Given the description of an element on the screen output the (x, y) to click on. 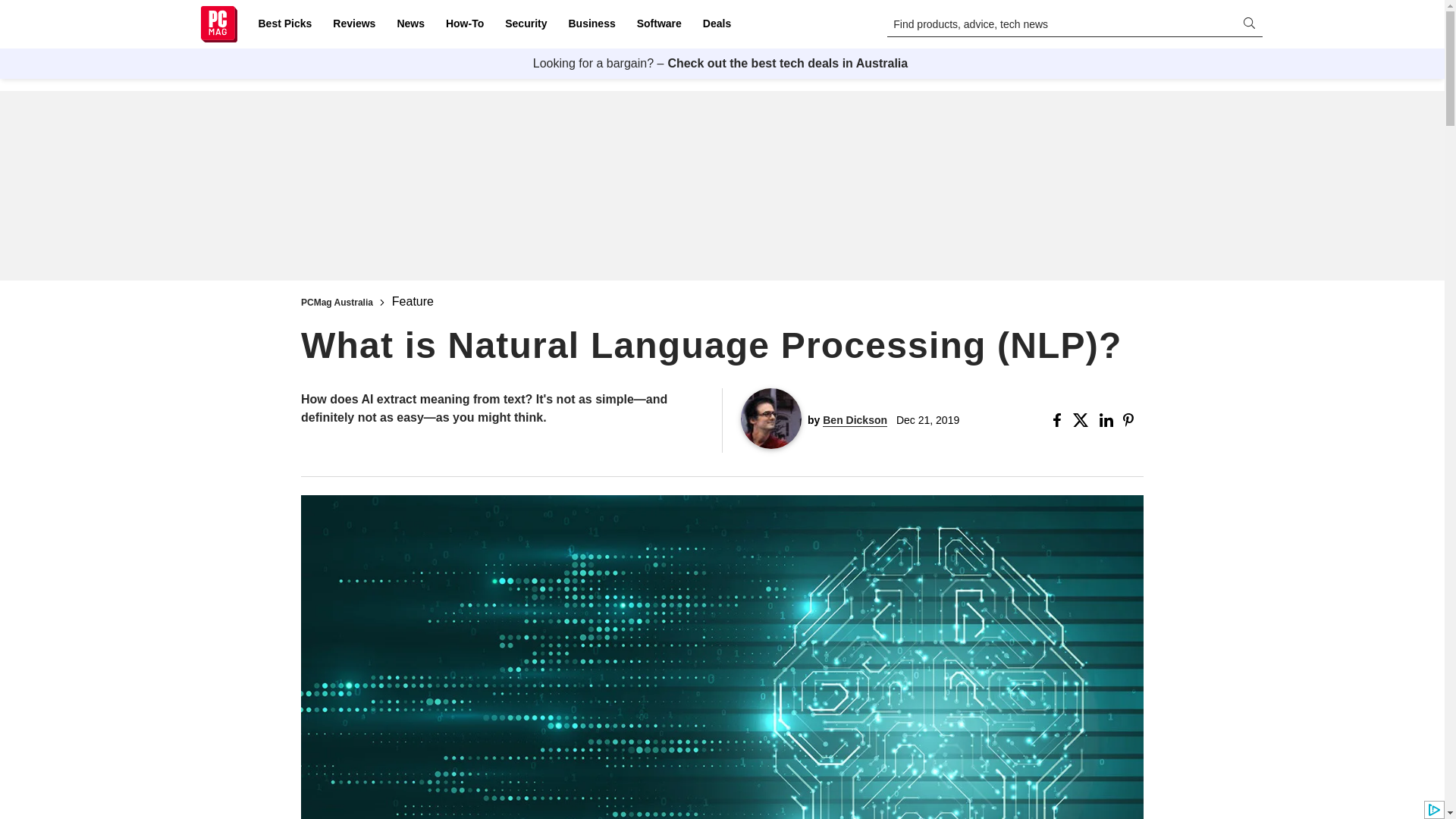
Share this Story on X (1083, 419)
Reviews (353, 24)
Best Picks (284, 24)
How-To (464, 24)
News (410, 24)
Share this Story on Pinterest (1132, 419)
Share this Story on Facebook (1059, 419)
Share this Story on Linkedin (1107, 419)
Business (591, 24)
Security (526, 24)
